Given the description of an element on the screen output the (x, y) to click on. 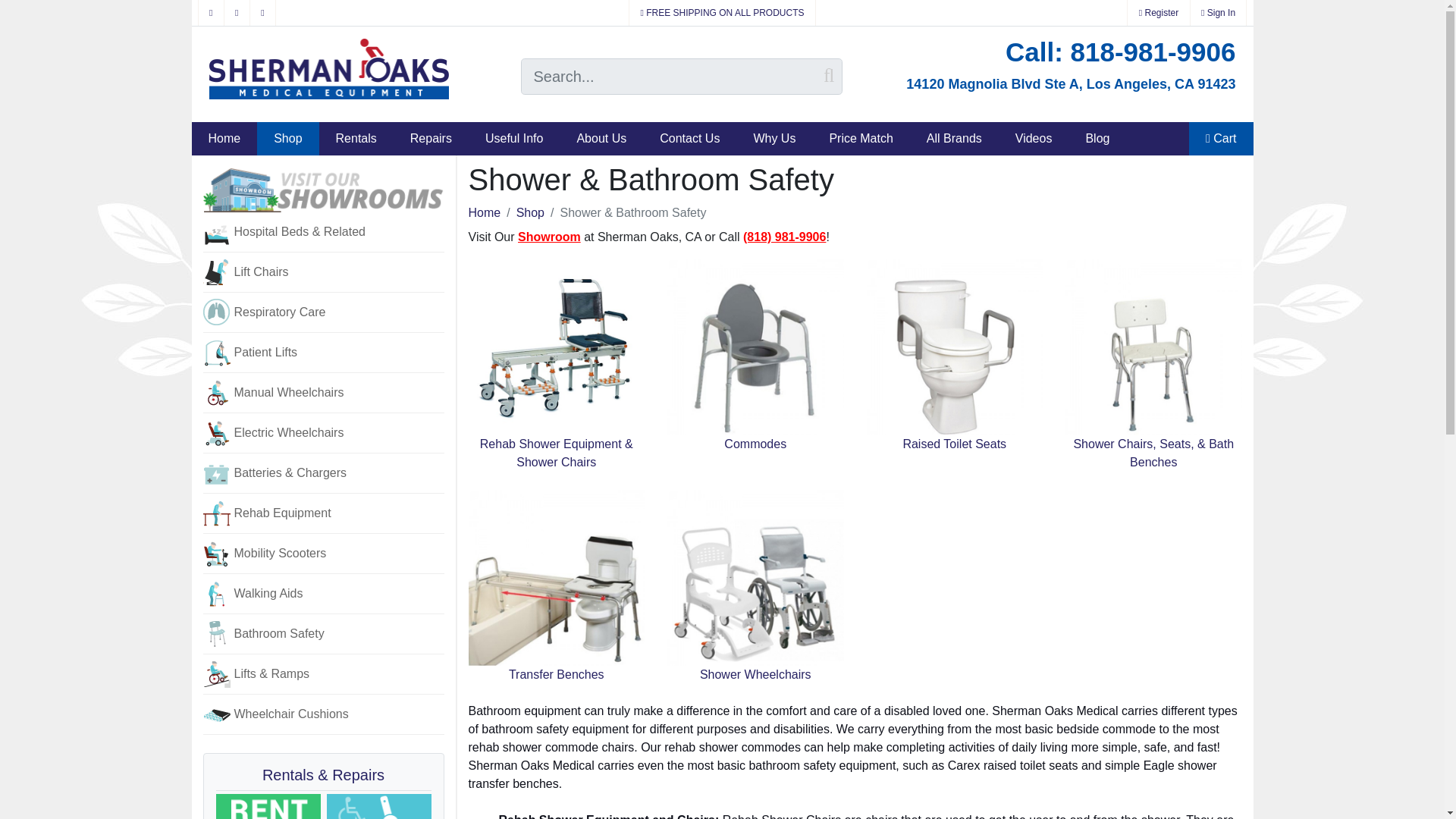
Rentals (355, 138)
Commodes (755, 395)
Rehab Equipment (323, 513)
Why Us (774, 138)
Yelp (237, 12)
Medical Equipment Repair (378, 806)
Call: 818-981-9906 (853, 51)
Medical Equipment Rentals (267, 806)
All Brands (954, 138)
Blog (1096, 138)
